Given the description of an element on the screen output the (x, y) to click on. 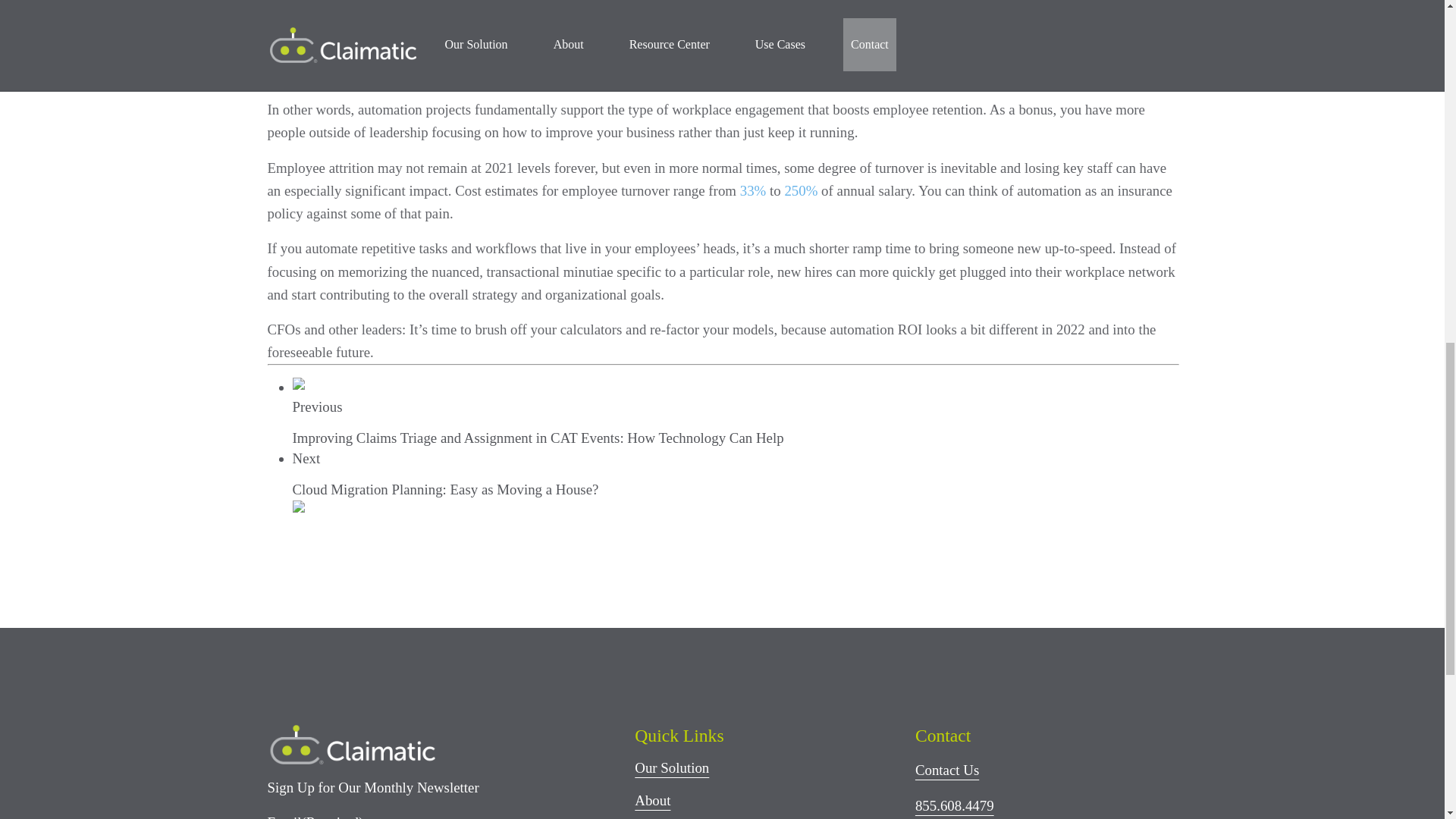
855.608.4479 (954, 805)
About (651, 800)
Contact Us (946, 770)
Cloud Migration Planning: Easy as Moving a House? (445, 489)
Our Solution (671, 767)
